Given the description of an element on the screen output the (x, y) to click on. 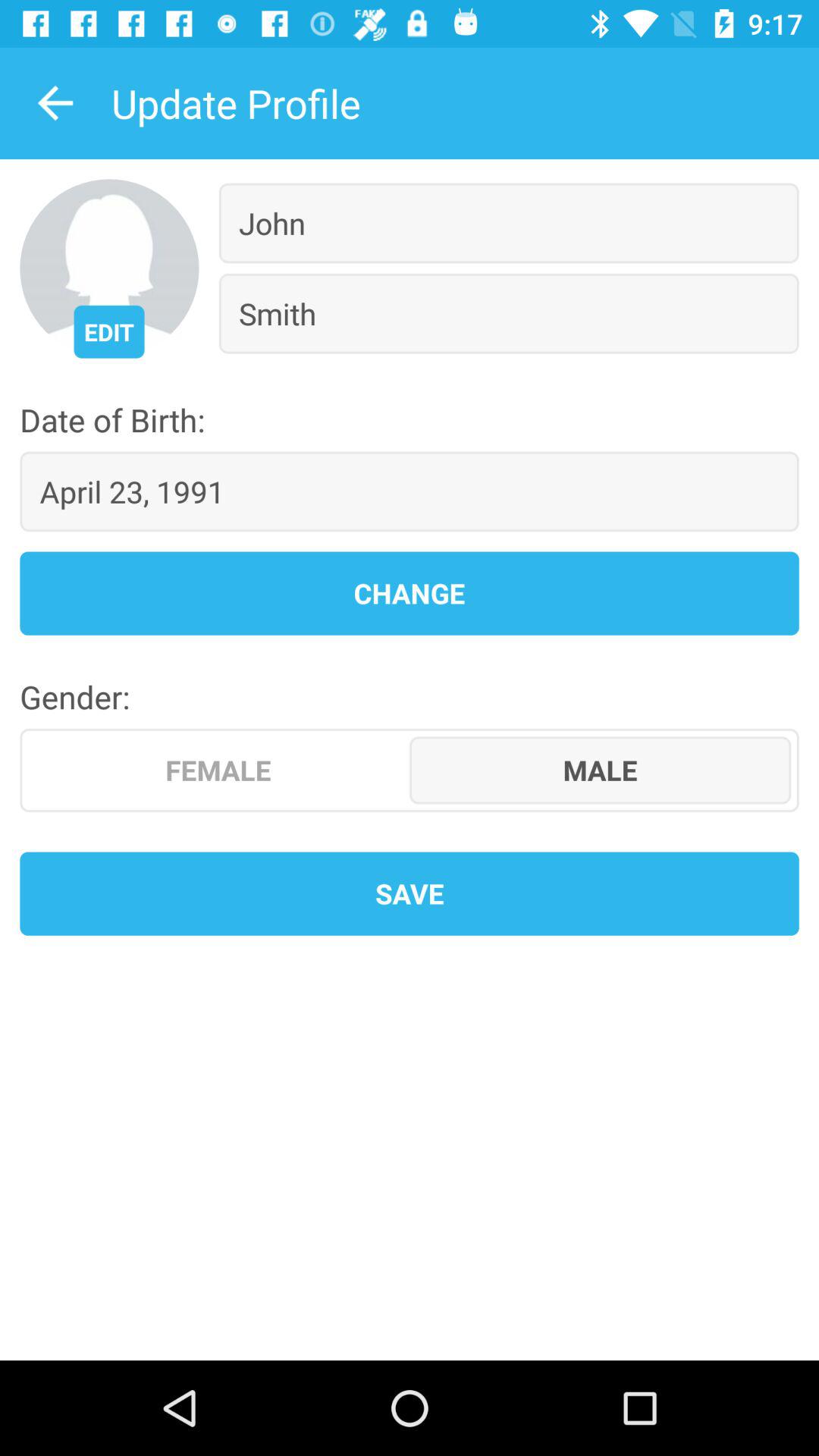
click on the edit option (109, 331)
